Given the description of an element on the screen output the (x, y) to click on. 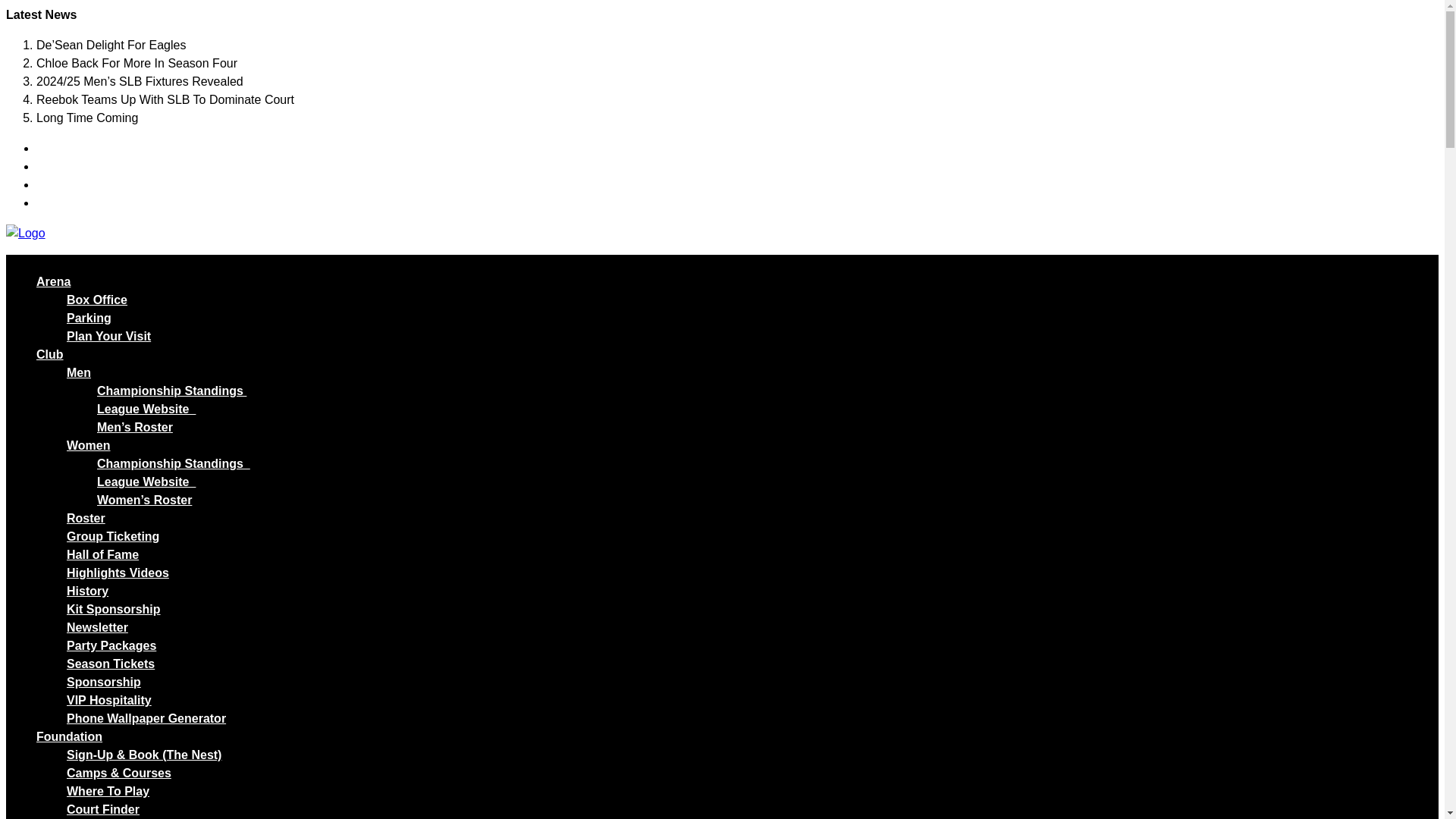
Roster (85, 517)
Where To Play (107, 790)
History (86, 590)
Plan Your Visit (108, 336)
Sponsorship (103, 681)
Arena (52, 281)
Court Finder (102, 809)
Home (25, 233)
Group Ticketing (112, 535)
Championship Standings  (171, 390)
